Given the description of an element on the screen output the (x, y) to click on. 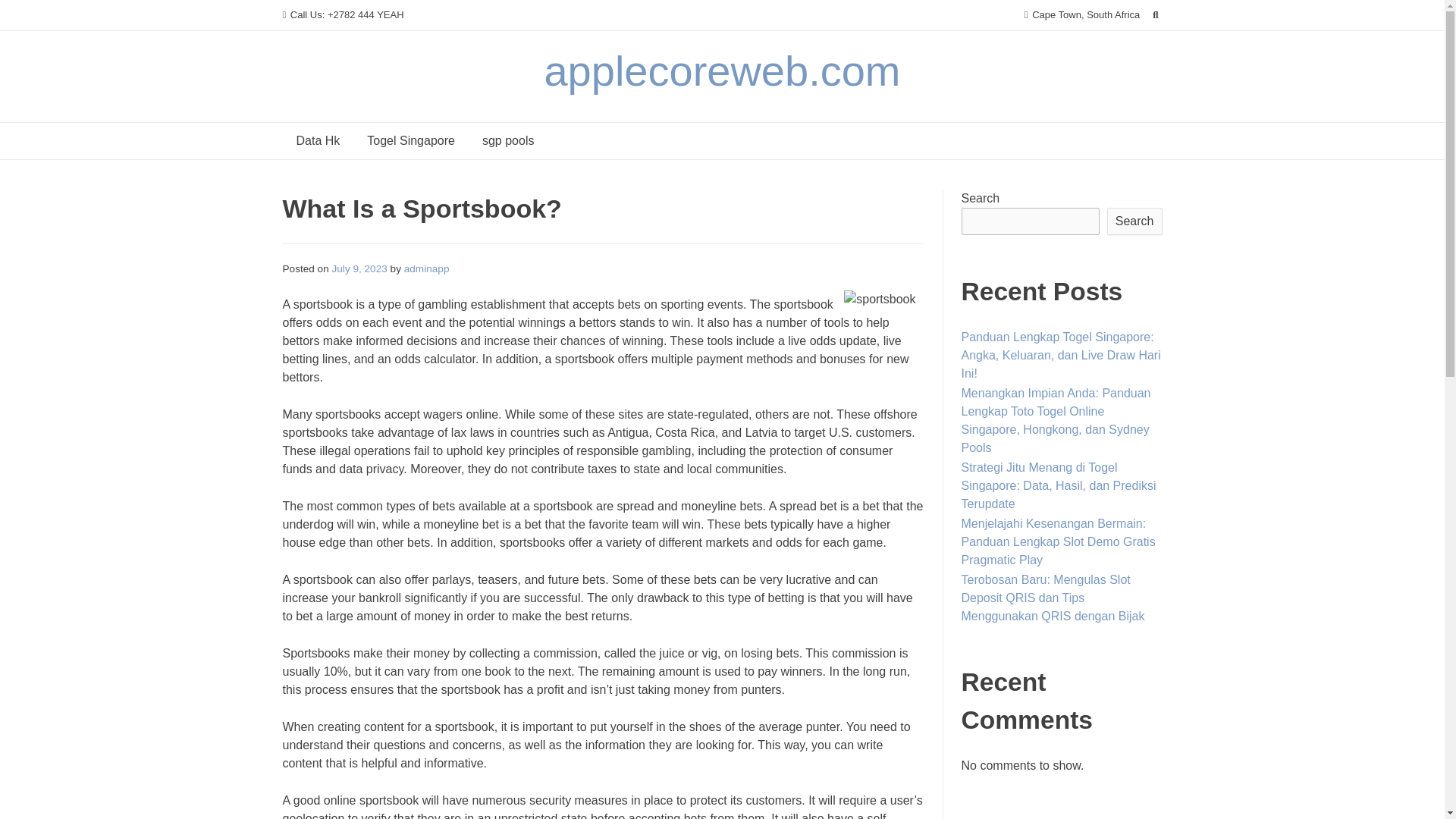
Data Hk (317, 140)
Search (1133, 221)
applecoreweb.com (721, 70)
Togel Singapore (410, 140)
Search (27, 13)
adminapp (426, 268)
